Given the description of an element on the screen output the (x, y) to click on. 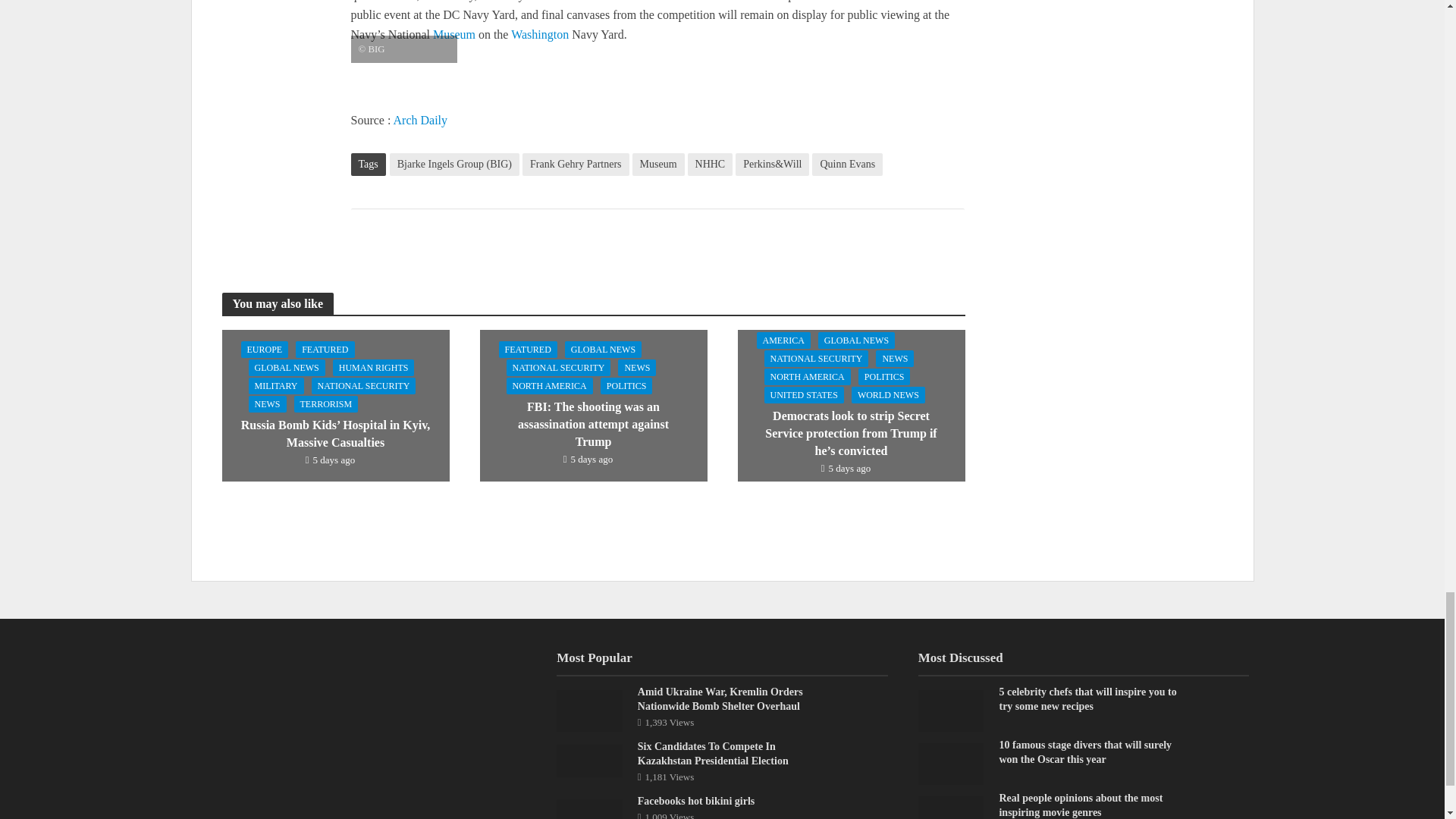
FBI: The shooting was an assassination attempt against Trump (592, 403)
